Given the description of an element on the screen output the (x, y) to click on. 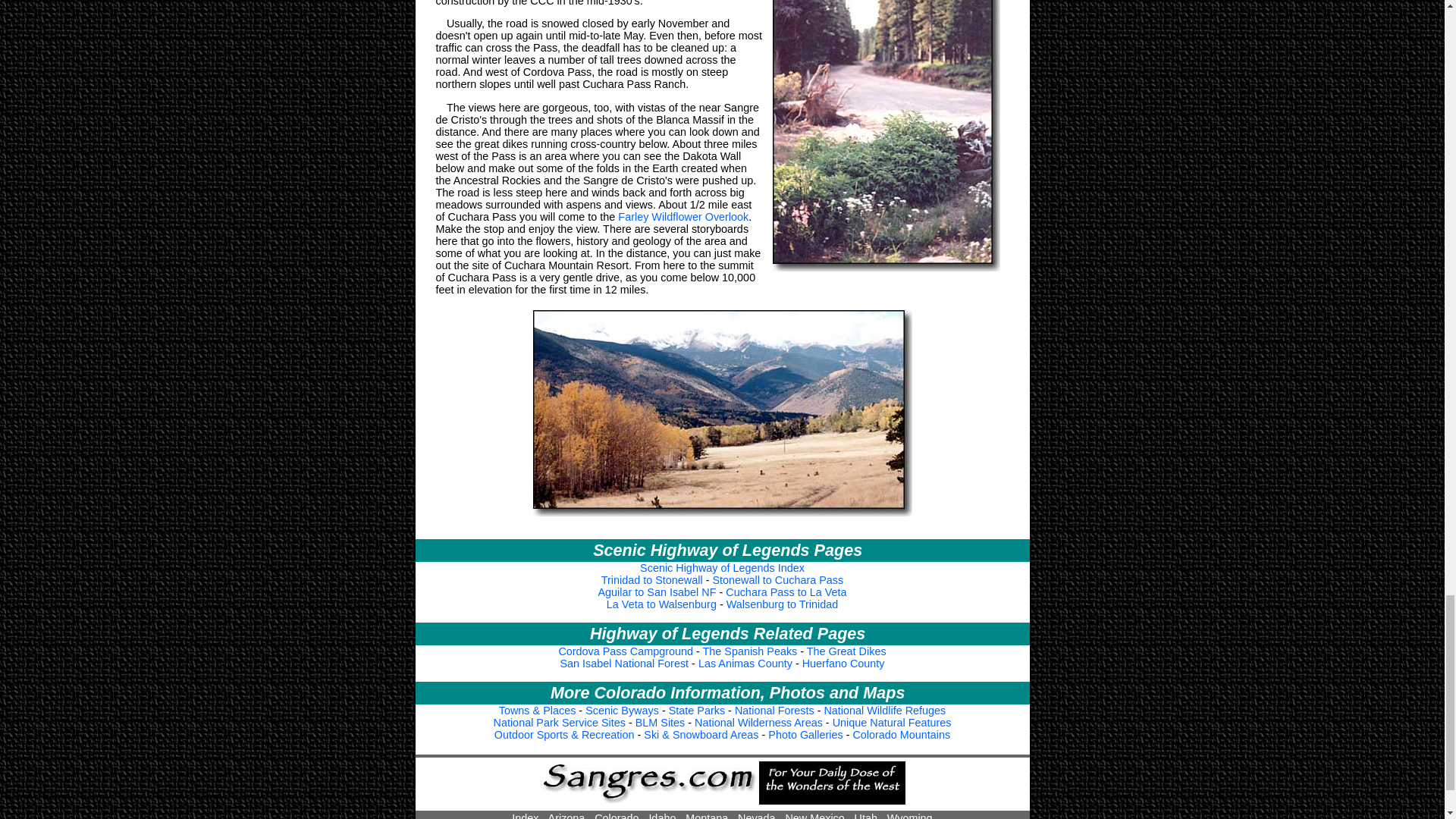
Colorado (616, 815)
Colorado Mountains (900, 734)
National Forests (774, 710)
The Great Dikes (846, 651)
Scenic Byways (622, 710)
Cuchara Pass to La Veta (785, 592)
Scenic Highway of Legends (722, 567)
Las Animas County (745, 663)
View of the Sangres (722, 412)
Huerfano County (843, 663)
